Given the description of an element on the screen output the (x, y) to click on. 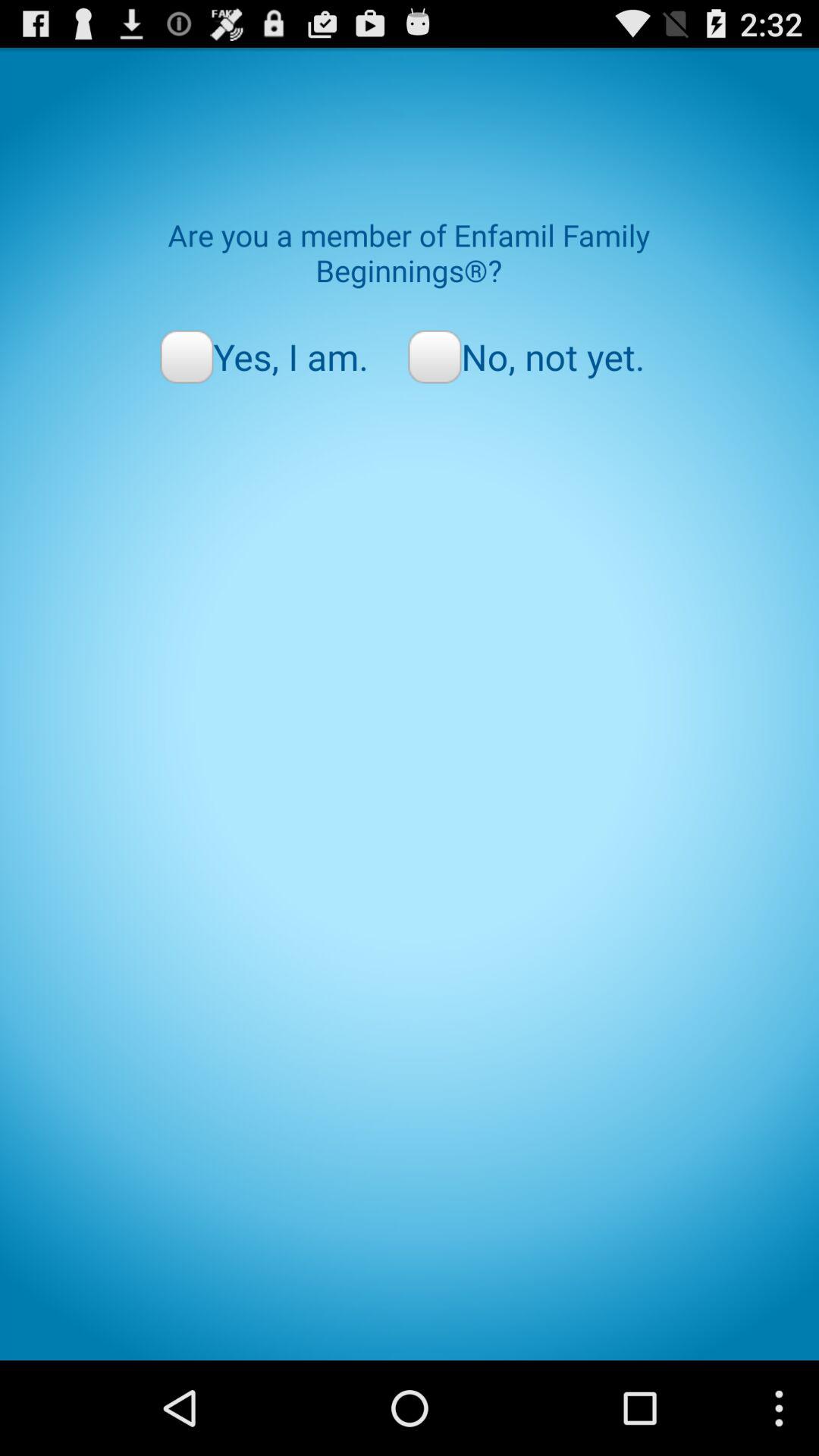
choose the item next to yes, i am. icon (526, 356)
